Given the description of an element on the screen output the (x, y) to click on. 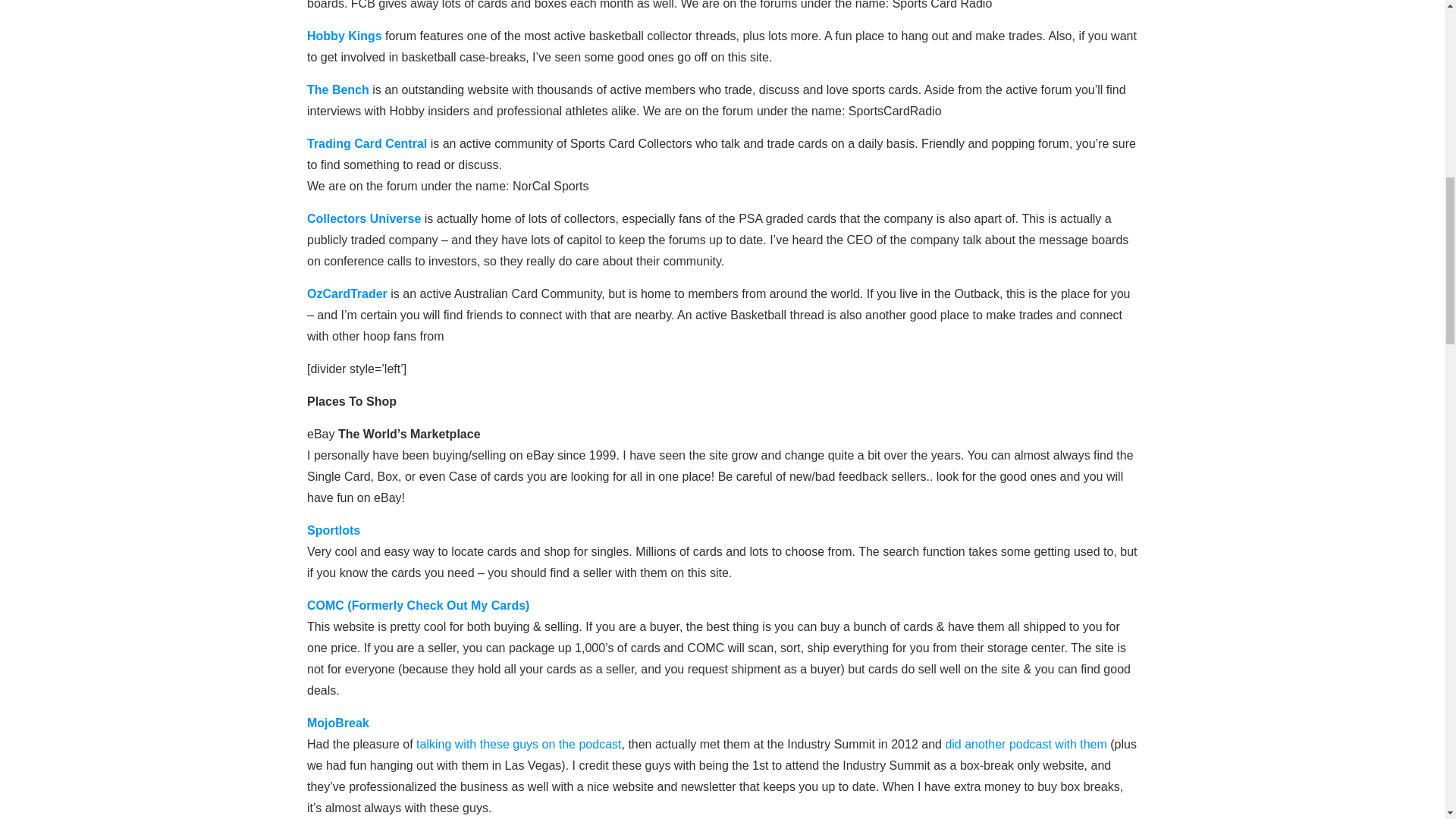
did another podcast with them (1025, 744)
Sportlots (333, 530)
The Bench (338, 89)
Hobby Kings (344, 35)
Trading Card Central (366, 143)
OzCardTrader (347, 293)
talking with these guys on the podcast (518, 744)
MojoBreak (338, 722)
Collectors Universe (363, 218)
